Given the description of an element on the screen output the (x, y) to click on. 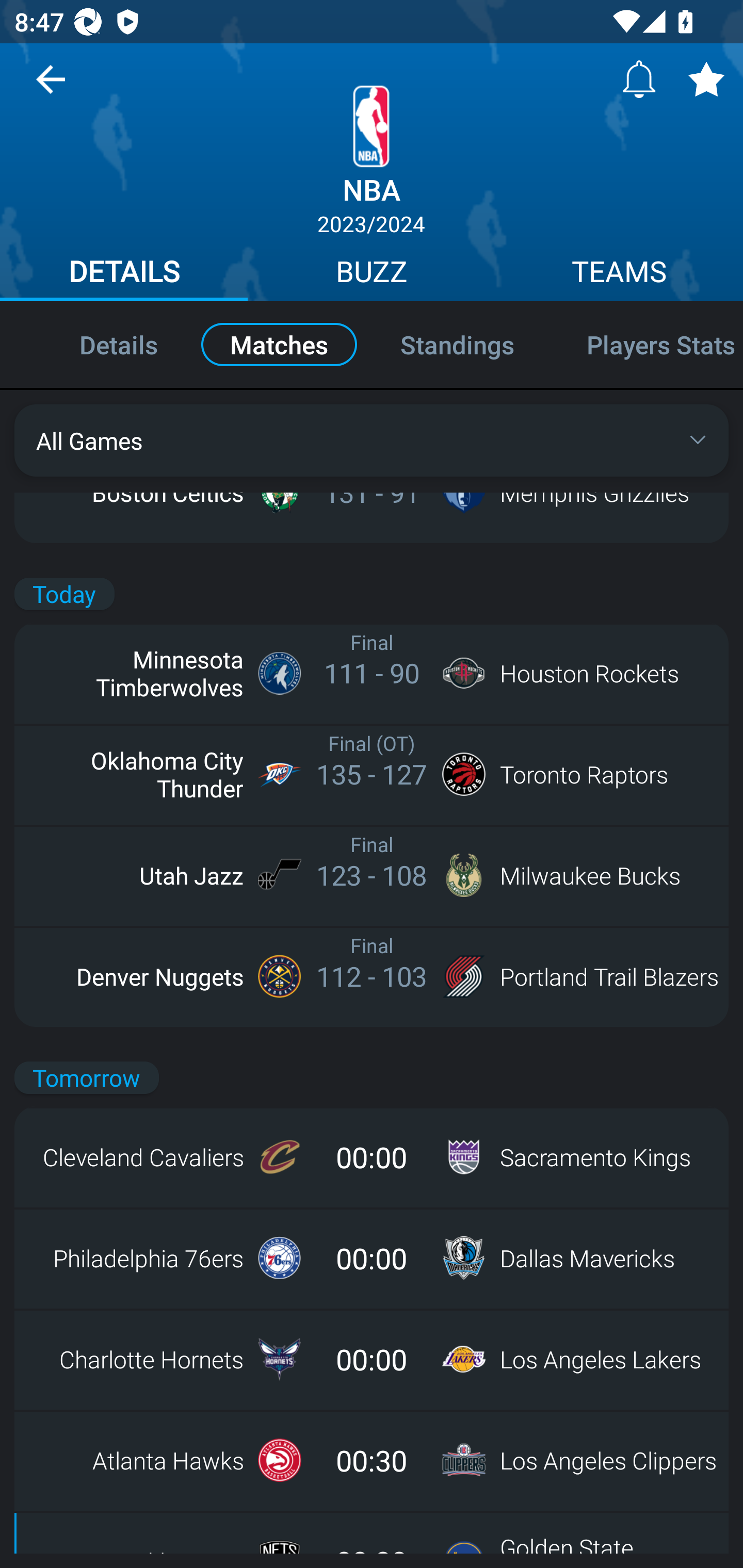
Navigate up (50, 86)
DETAILS (123, 274)
BUZZ (371, 274)
TEAMS (619, 274)
Details (96, 344)
Standings (457, 344)
Players Stats (646, 344)
All Games (371, 440)
Utah Jazz Final 123 - 108 Milwaukee Bucks (371, 874)
Cleveland Cavaliers 00:00 Sacramento Kings (371, 1157)
Philadelphia 76ers 00:00 Dallas Mavericks (371, 1258)
Charlotte Hornets 00:00 Los Angeles Lakers (371, 1359)
Atlanta Hawks 00:30 Los Angeles Clippers (371, 1459)
